Given the description of an element on the screen output the (x, y) to click on. 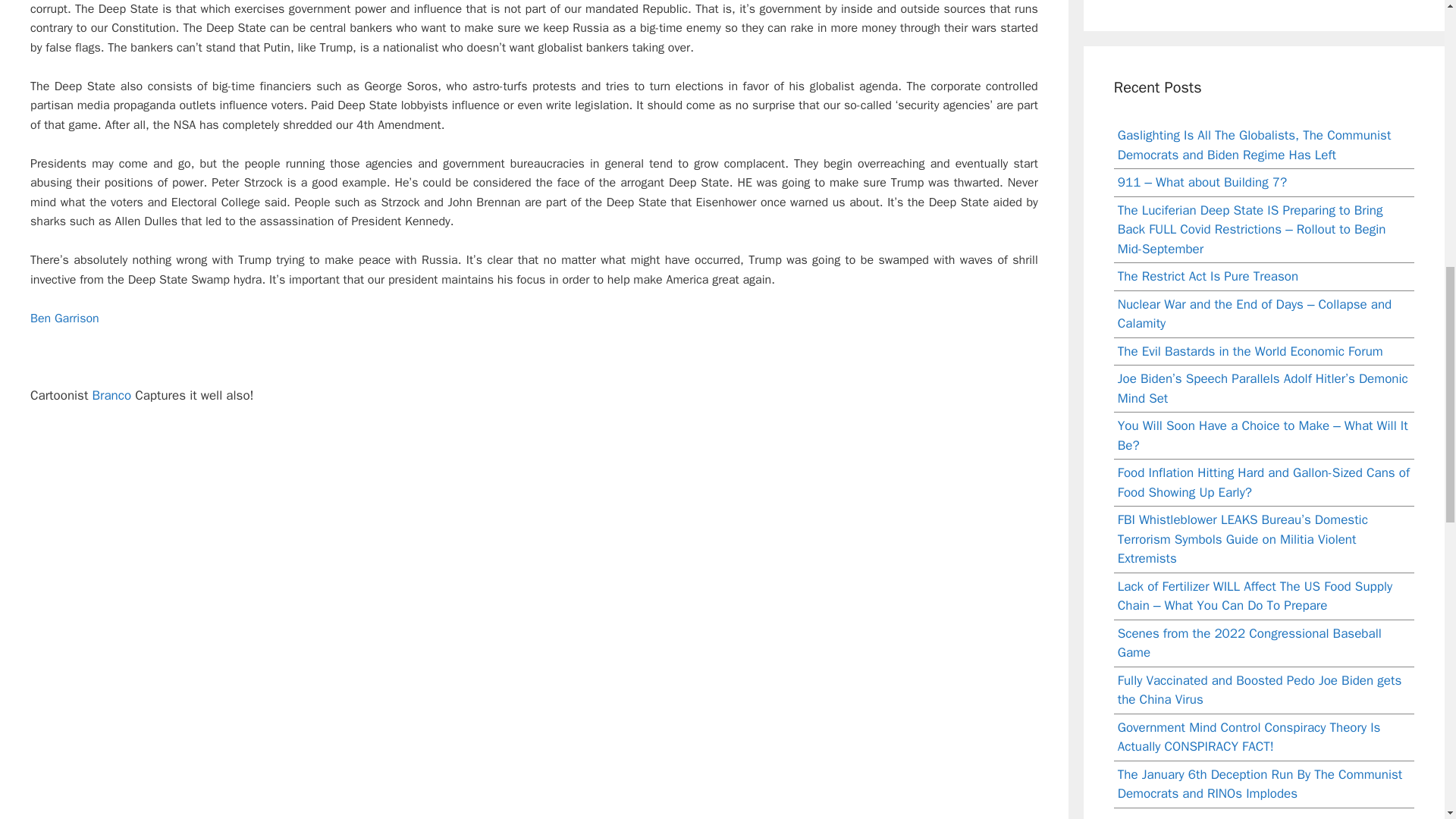
Ben Garrison (64, 318)
Branco (111, 395)
